Given the description of an element on the screen output the (x, y) to click on. 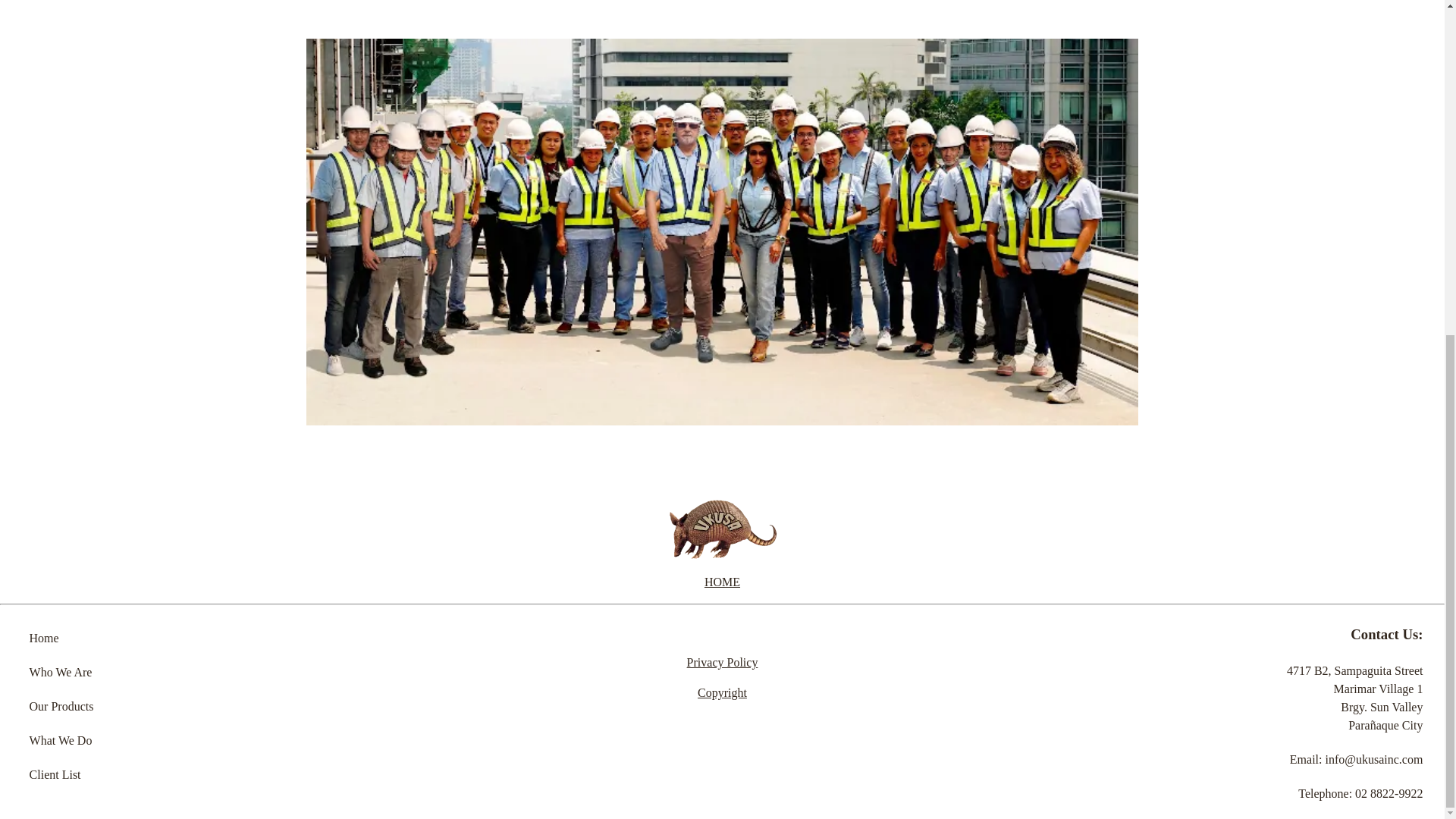
Our Products (61, 706)
Client List (55, 774)
HOME (721, 581)
Who We Are (61, 671)
Home (44, 637)
Copyright (721, 692)
What We Do (61, 739)
Privacy Policy (722, 662)
02 8822-9922 (1388, 793)
